Given the description of an element on the screen output the (x, y) to click on. 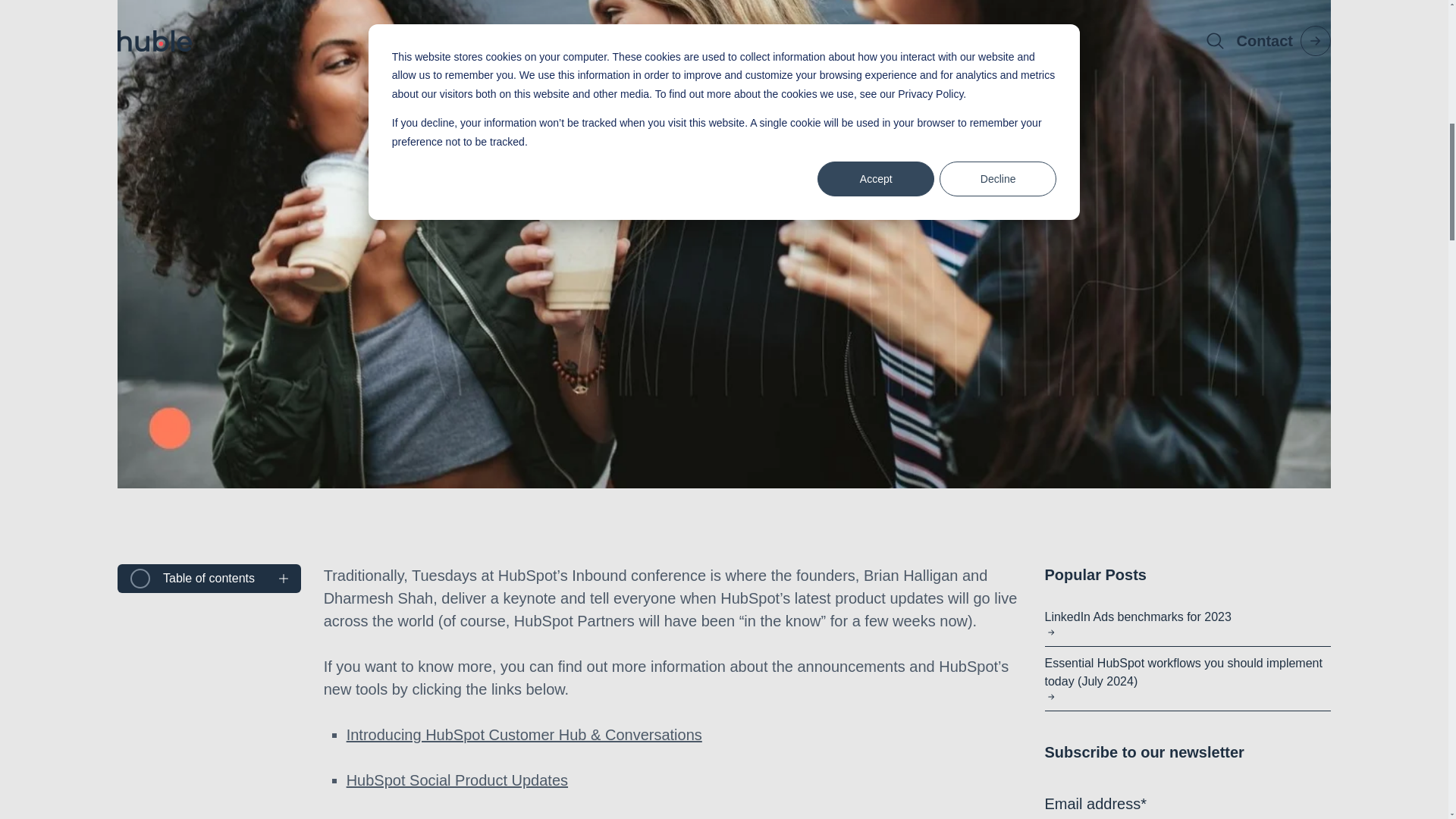
LinkedIn Ads benchmarks for 2023 (1188, 623)
Table of contents (226, 578)
HubSpot Social Product Updates (456, 780)
